Given the description of an element on the screen output the (x, y) to click on. 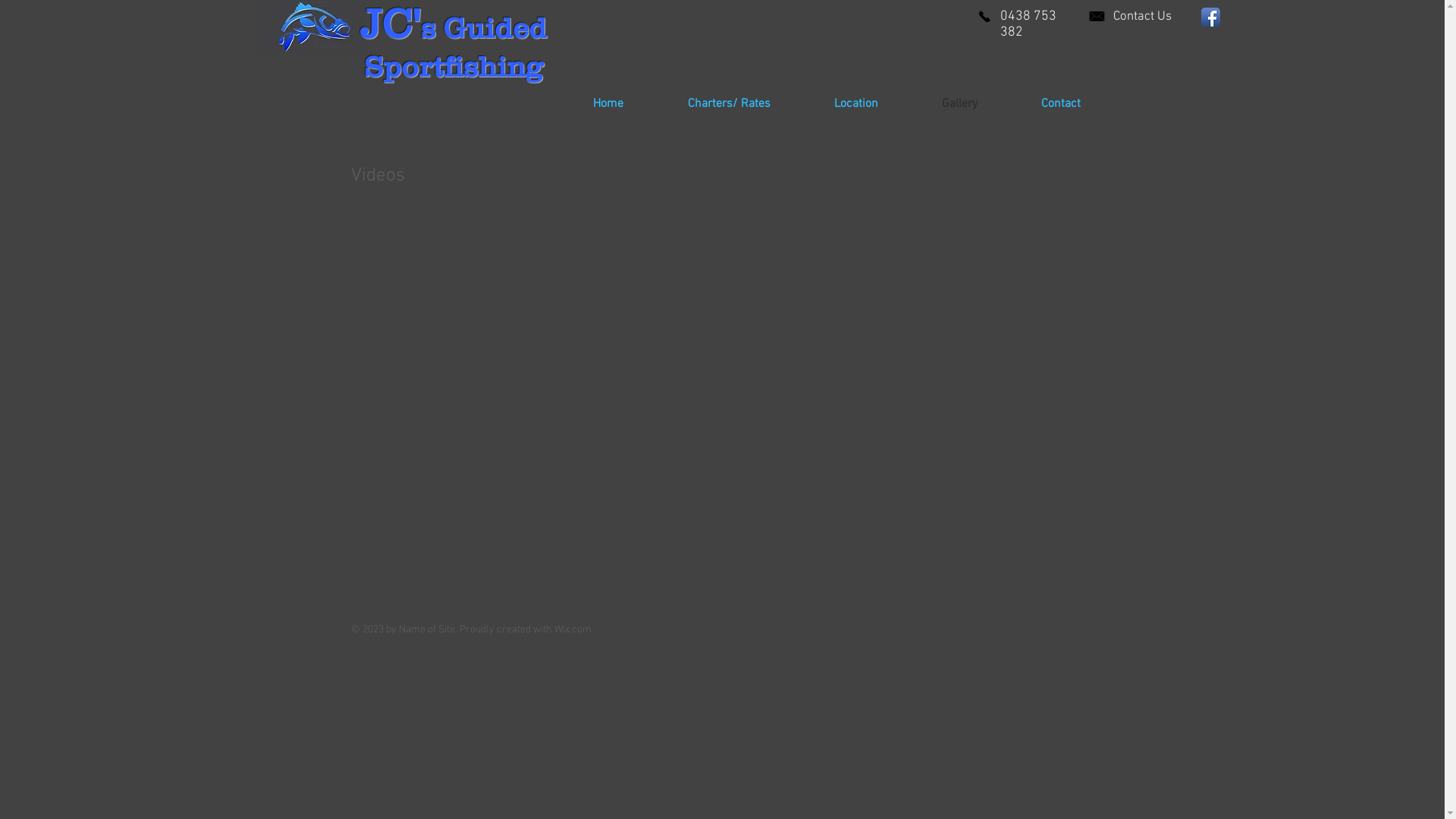
External YouTube Element type: hover (926, 453)
External YouTube Element type: hover (683, 239)
Charters/ Rates Element type: text (749, 104)
Wix.com Element type: text (571, 629)
External YouTube Element type: hover (683, 453)
Home Element type: text (627, 104)
Location Element type: text (875, 104)
External YouTube Element type: hover (453, 453)
External YouTube Element type: hover (929, 239)
Gallery Element type: text (979, 104)
Contact Element type: text (1080, 104)
External YouTube Element type: hover (454, 239)
